Given the description of an element on the screen output the (x, y) to click on. 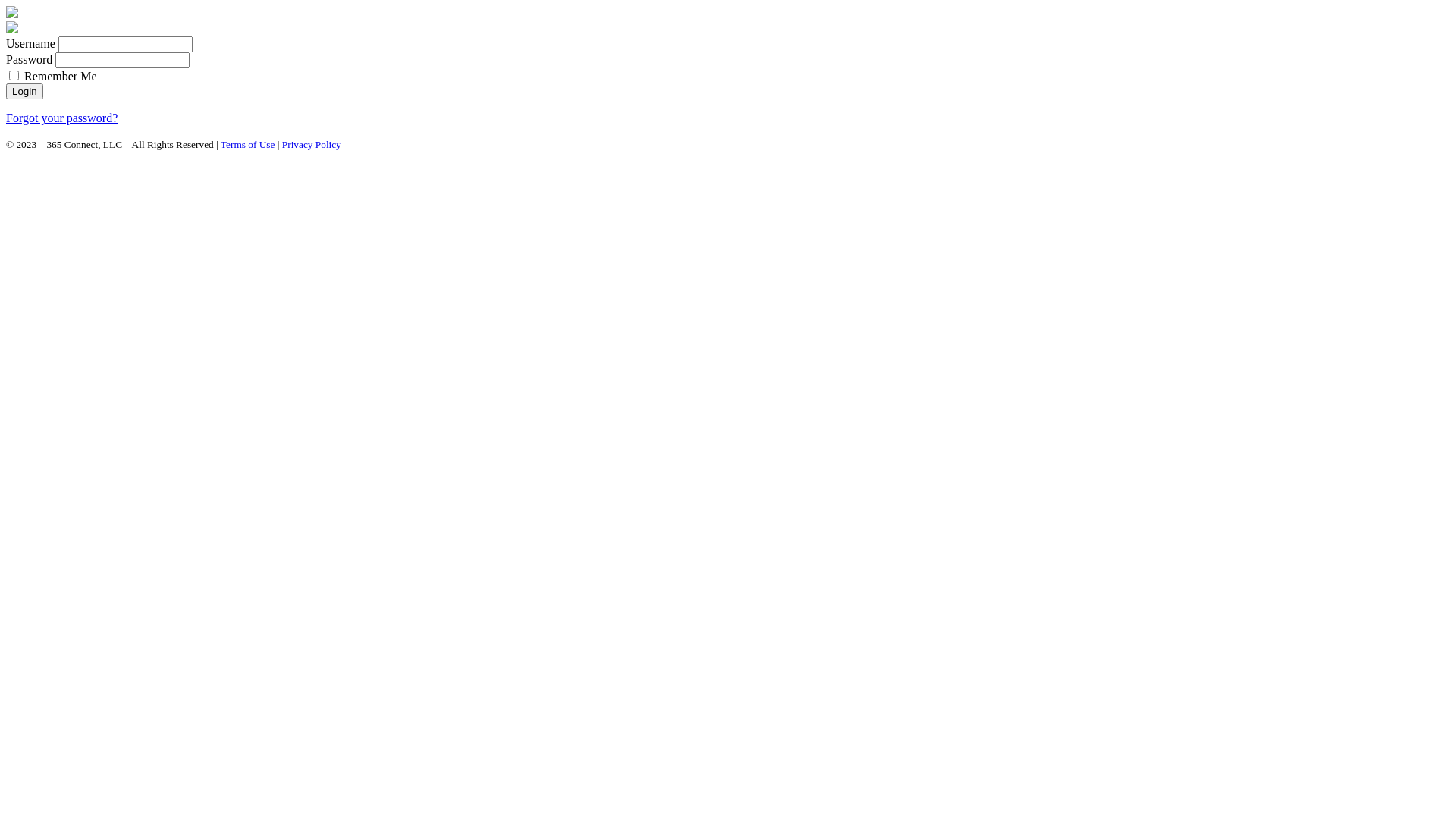
Forgot your password? Element type: text (61, 117)
Privacy Policy Element type: text (311, 144)
Terms of Use Element type: text (247, 144)
Login Element type: text (24, 91)
